Given the description of an element on the screen output the (x, y) to click on. 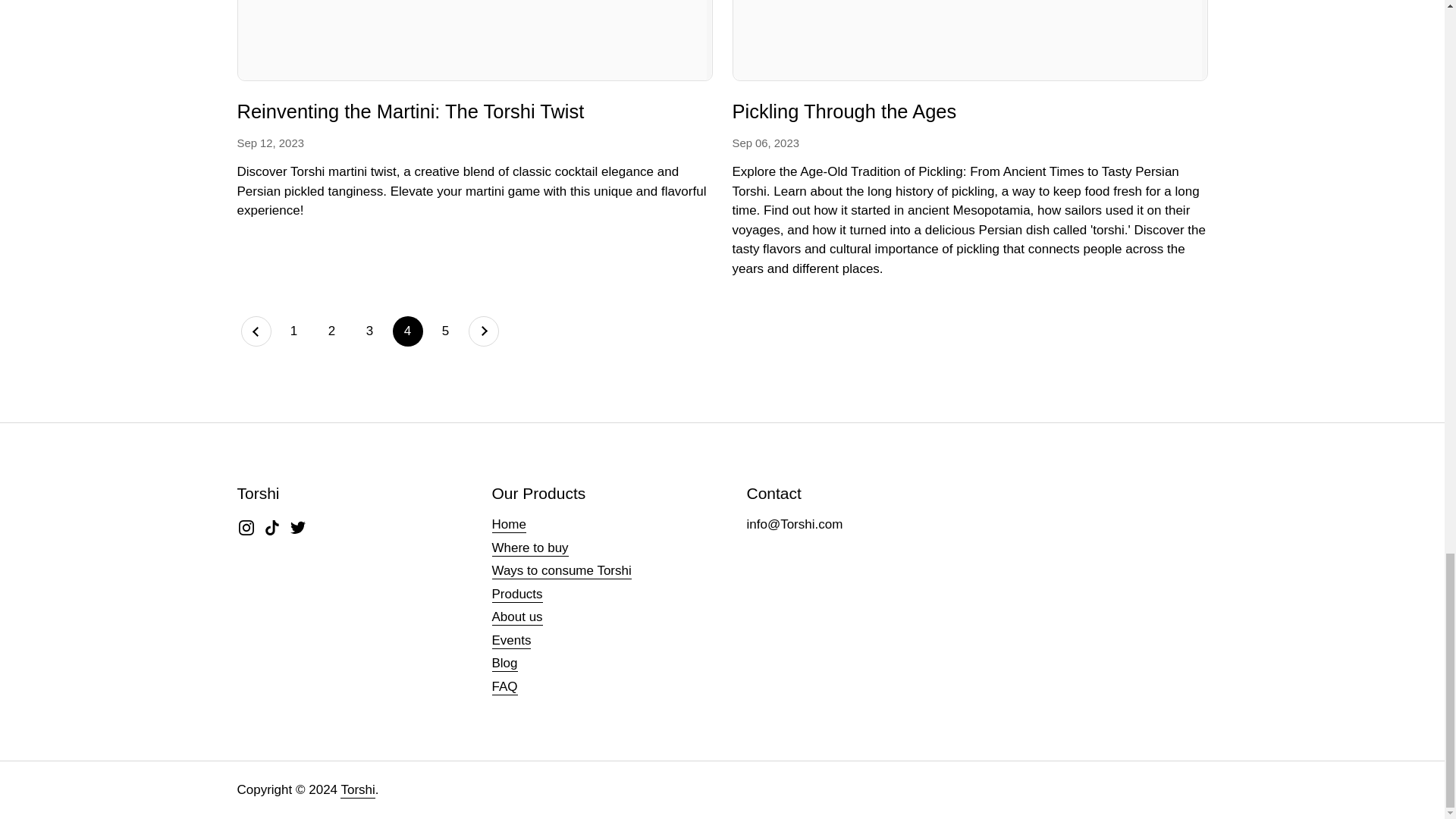
Reinventing the Martini: The Torshi Twist (473, 40)
Reinventing the Martini: The Torshi Twist (409, 114)
Reinventing the Martini: The Torshi Twist (409, 114)
Pickling Through the Ages (970, 40)
Pickling Through the Ages (844, 114)
